Given the description of an element on the screen output the (x, y) to click on. 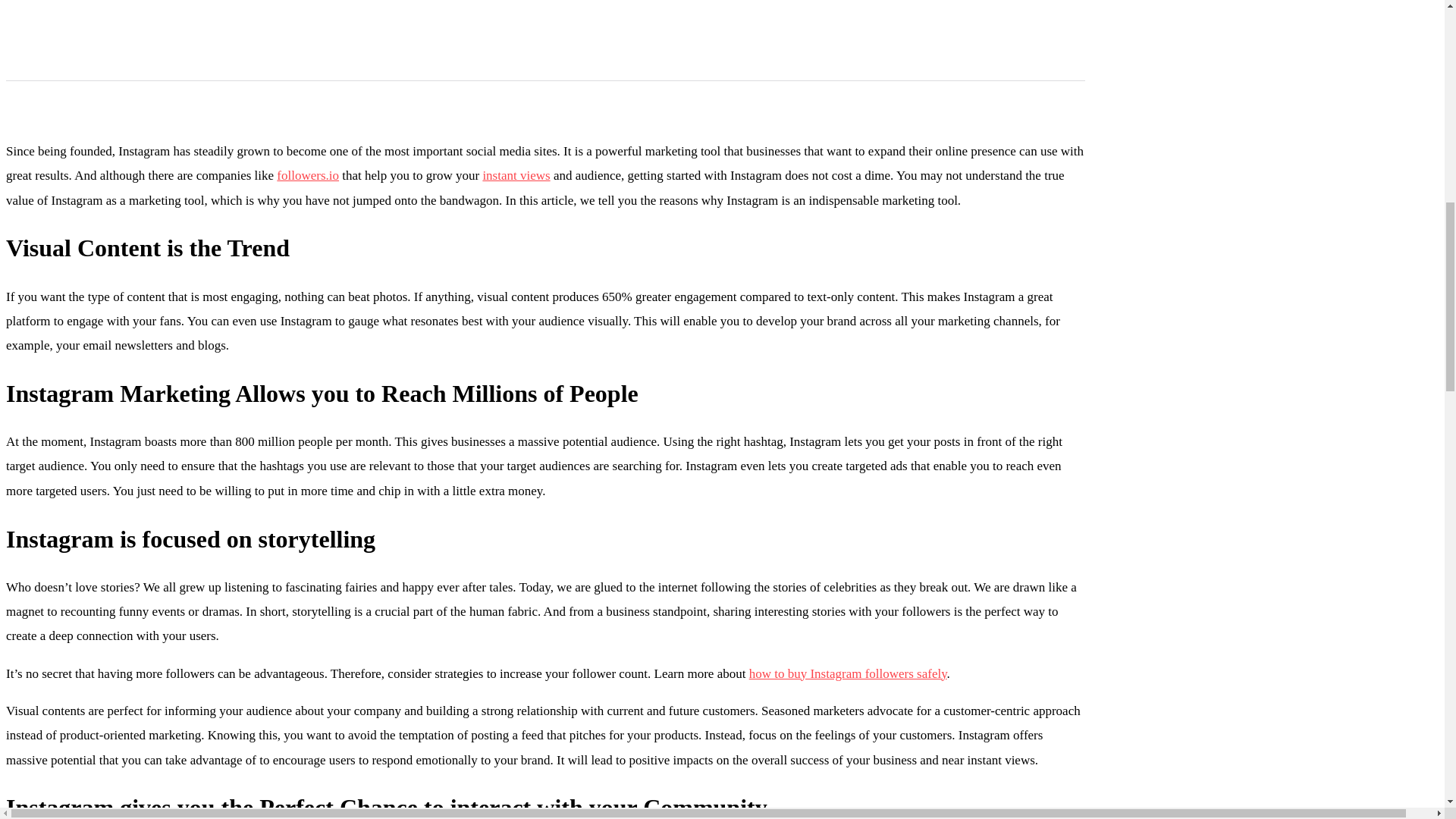
How Effective is Instagram as a Marketing Tool? (544, 13)
